Given the description of an element on the screen output the (x, y) to click on. 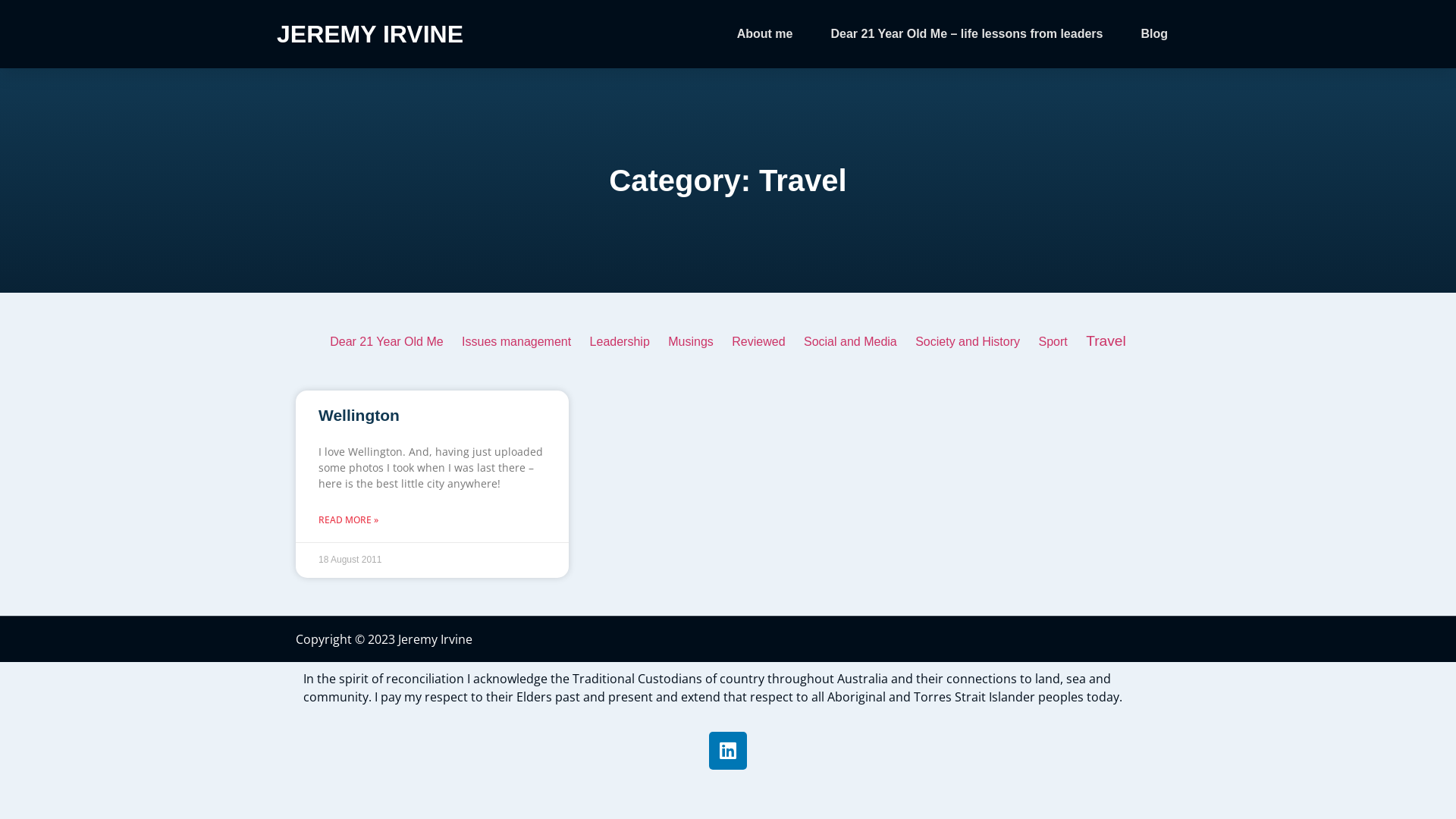
Social and Media Element type: text (850, 341)
Sport Element type: text (1052, 341)
Blog Element type: text (1153, 34)
Leadership Element type: text (619, 341)
Wellington Element type: text (358, 414)
Musings Element type: text (690, 341)
Dear 21 Year Old Me Element type: text (385, 341)
Society and History Element type: text (967, 341)
Issues management Element type: text (516, 341)
JEREMY IRVINE Element type: text (369, 33)
Reviewed Element type: text (757, 341)
Travel Element type: text (1105, 340)
About me Element type: text (765, 34)
